Given the description of an element on the screen output the (x, y) to click on. 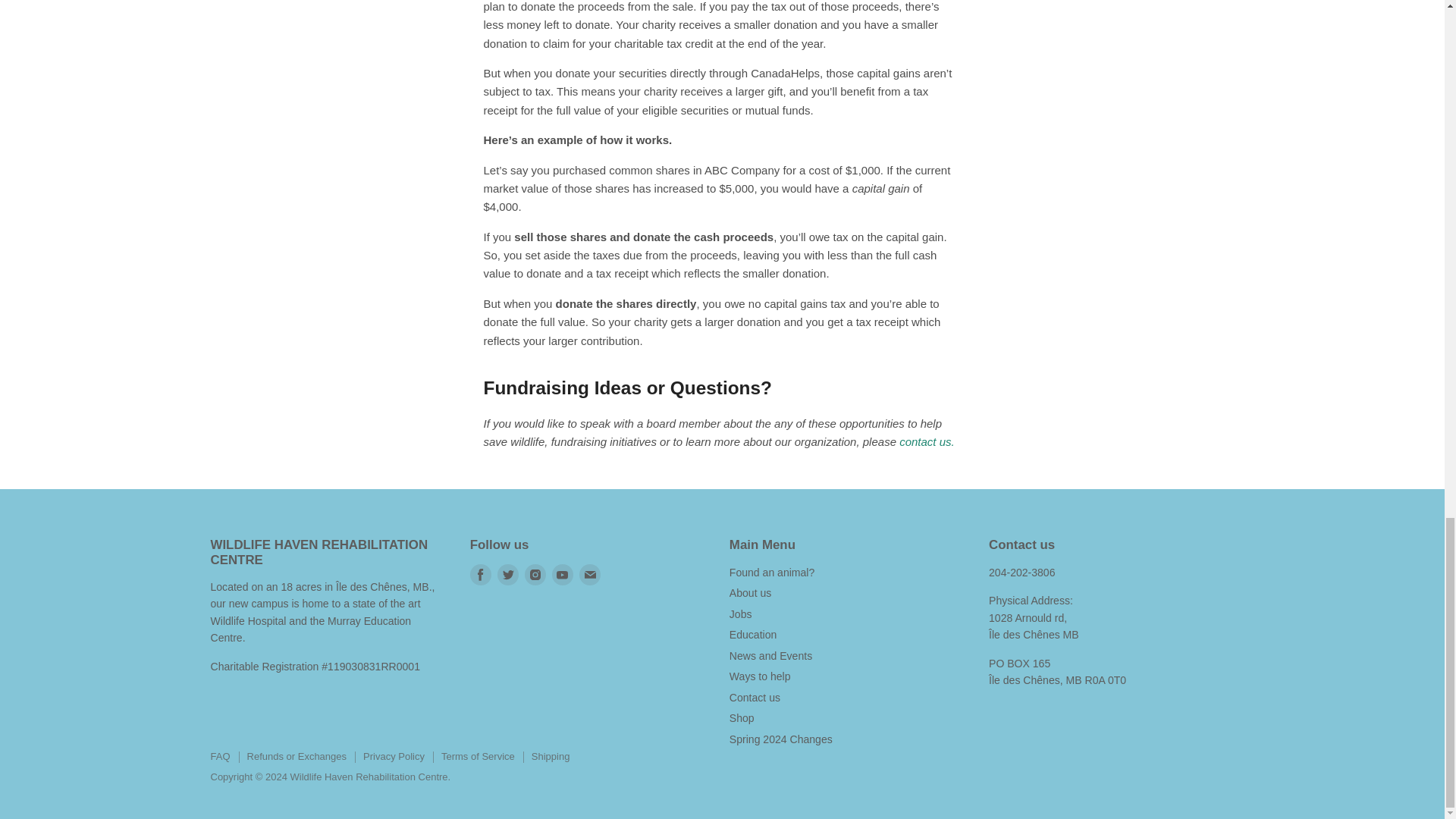
Instagram (534, 574)
Twitter (508, 574)
Facebook (481, 574)
E-mail (590, 574)
Contact us to discuss Endowment Fund opportunities available (927, 440)
Youtube (562, 574)
